Given the description of an element on the screen output the (x, y) to click on. 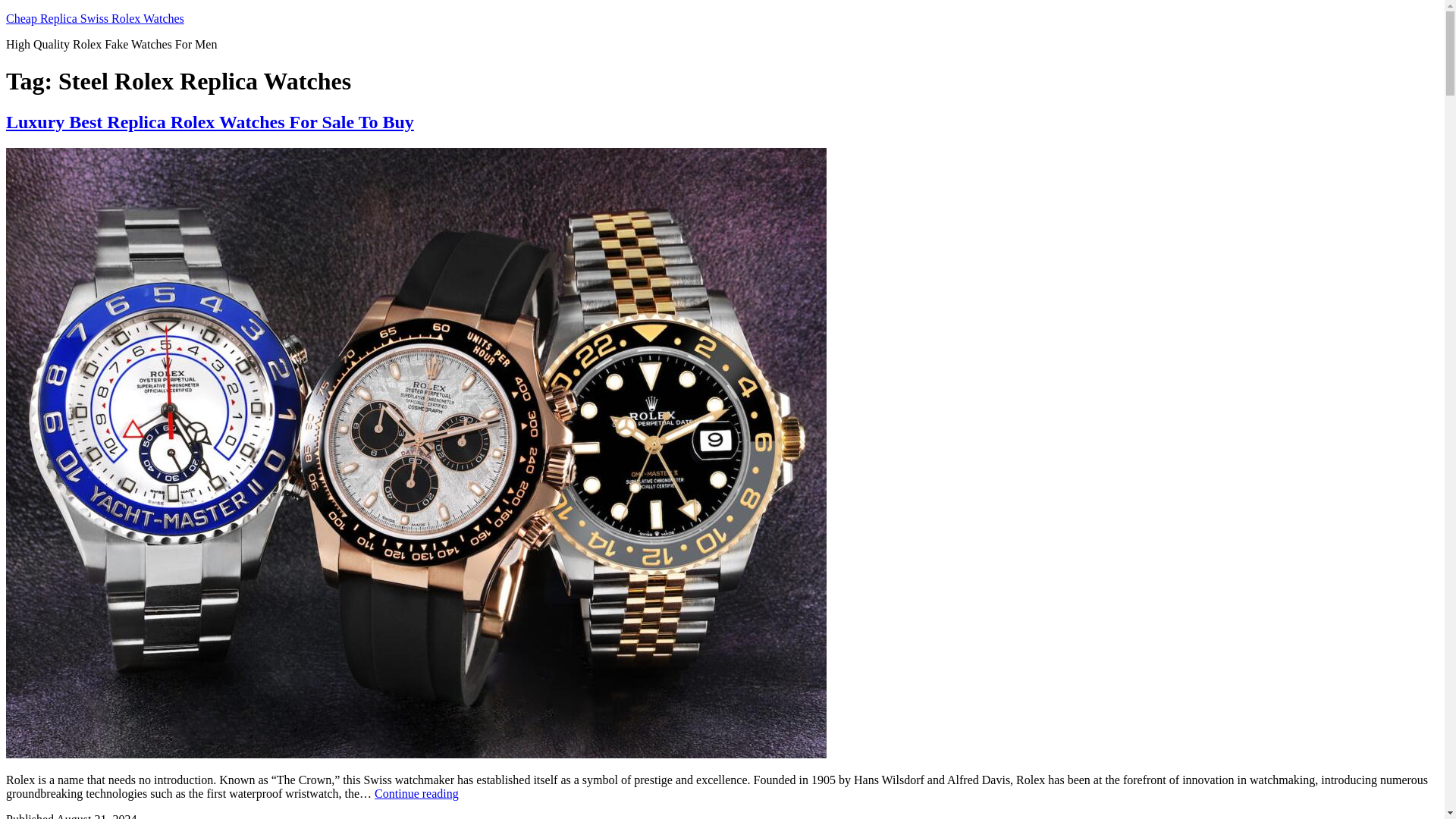
Luxury Best Replica Rolex Watches For Sale To Buy (209, 121)
Cheap Replica Swiss Rolex Watches (94, 18)
